Given the description of an element on the screen output the (x, y) to click on. 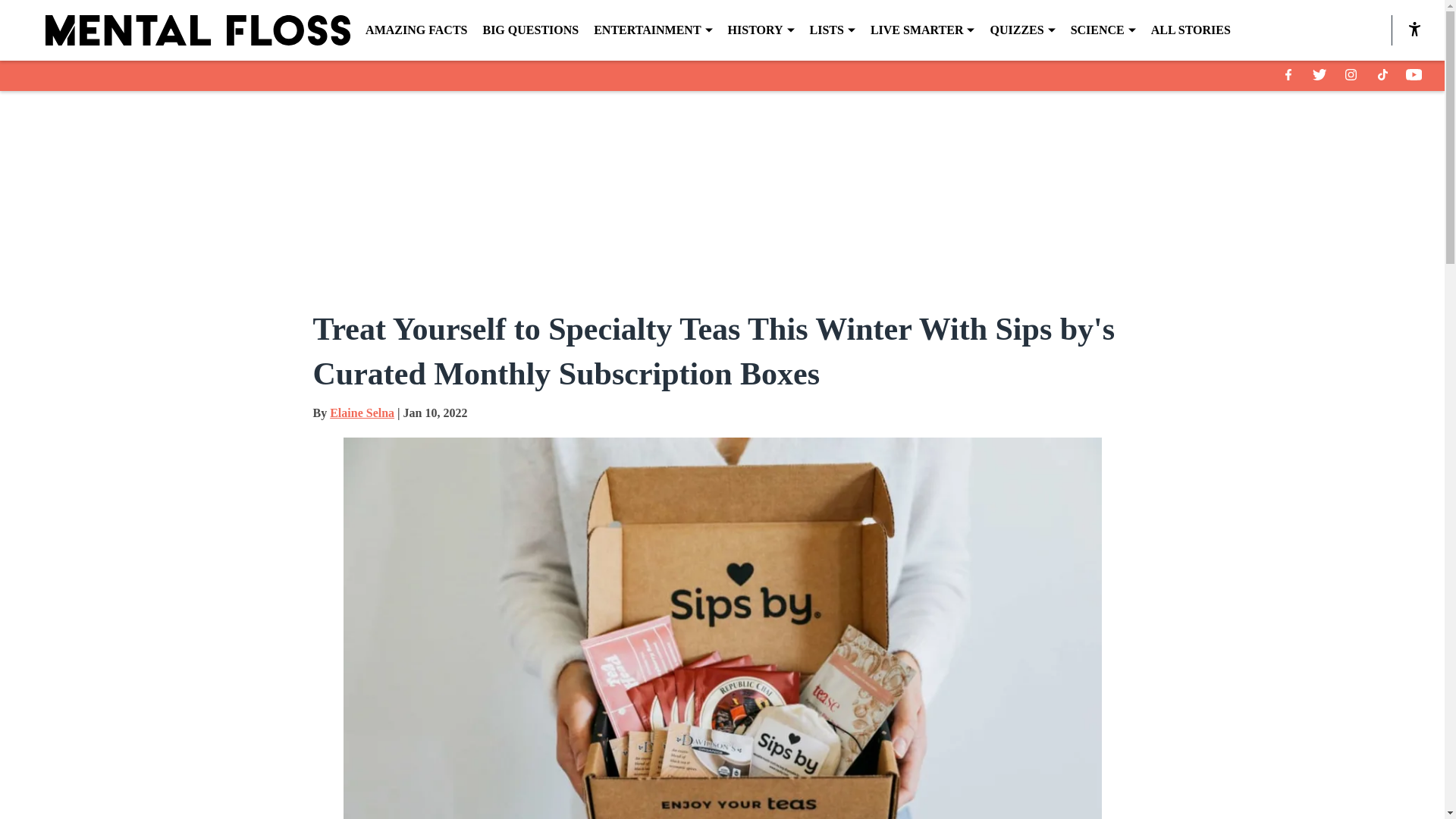
ALL STORIES (1190, 30)
AMAZING FACTS (416, 30)
BIG QUESTIONS (529, 30)
